Given the description of an element on the screen output the (x, y) to click on. 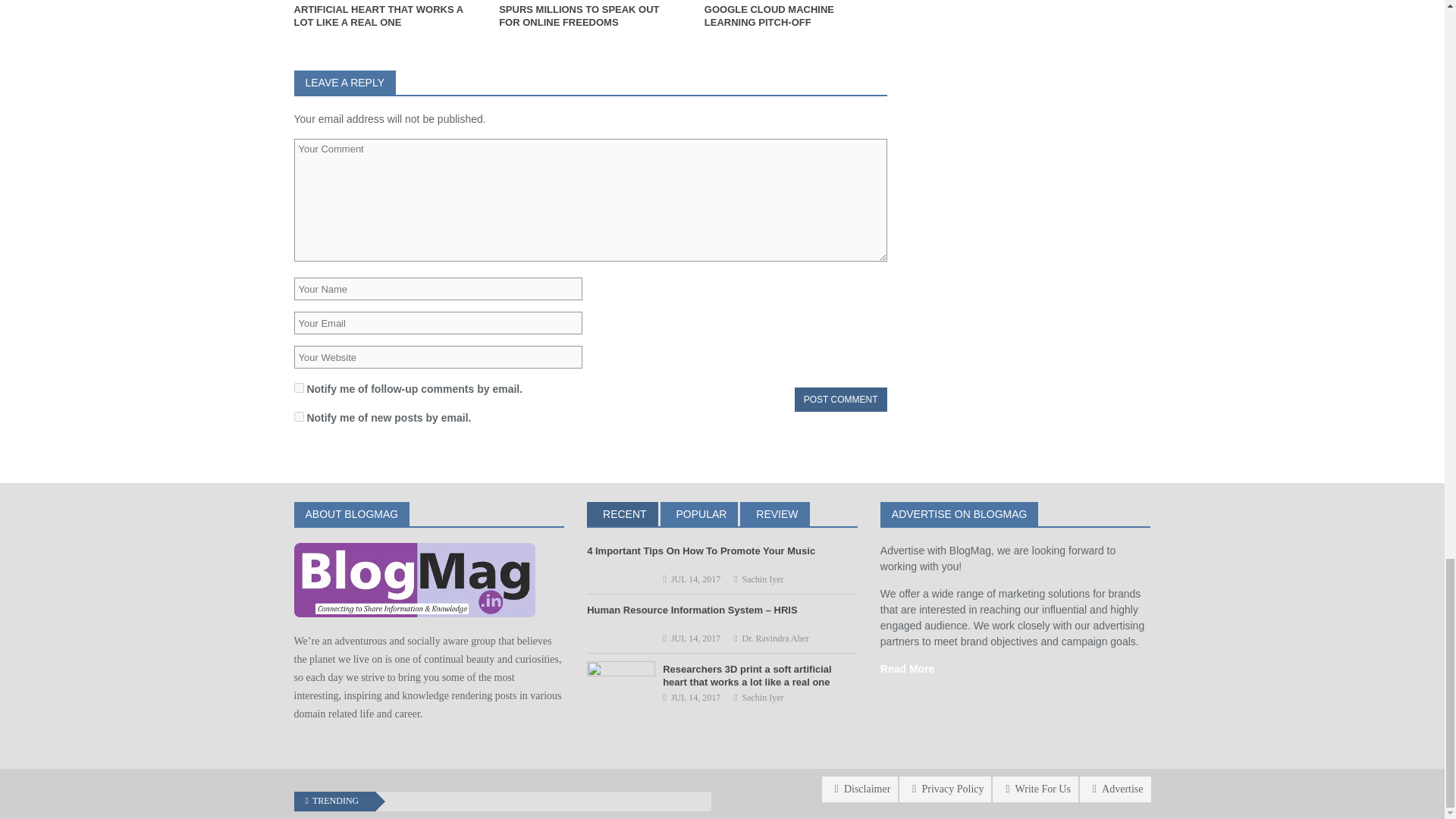
Post Comment (840, 399)
subscribe (299, 388)
subscribe (299, 416)
Post Comment (840, 399)
Friday, July 14, 2017, 7:36 am (695, 579)
